Given the description of an element on the screen output the (x, y) to click on. 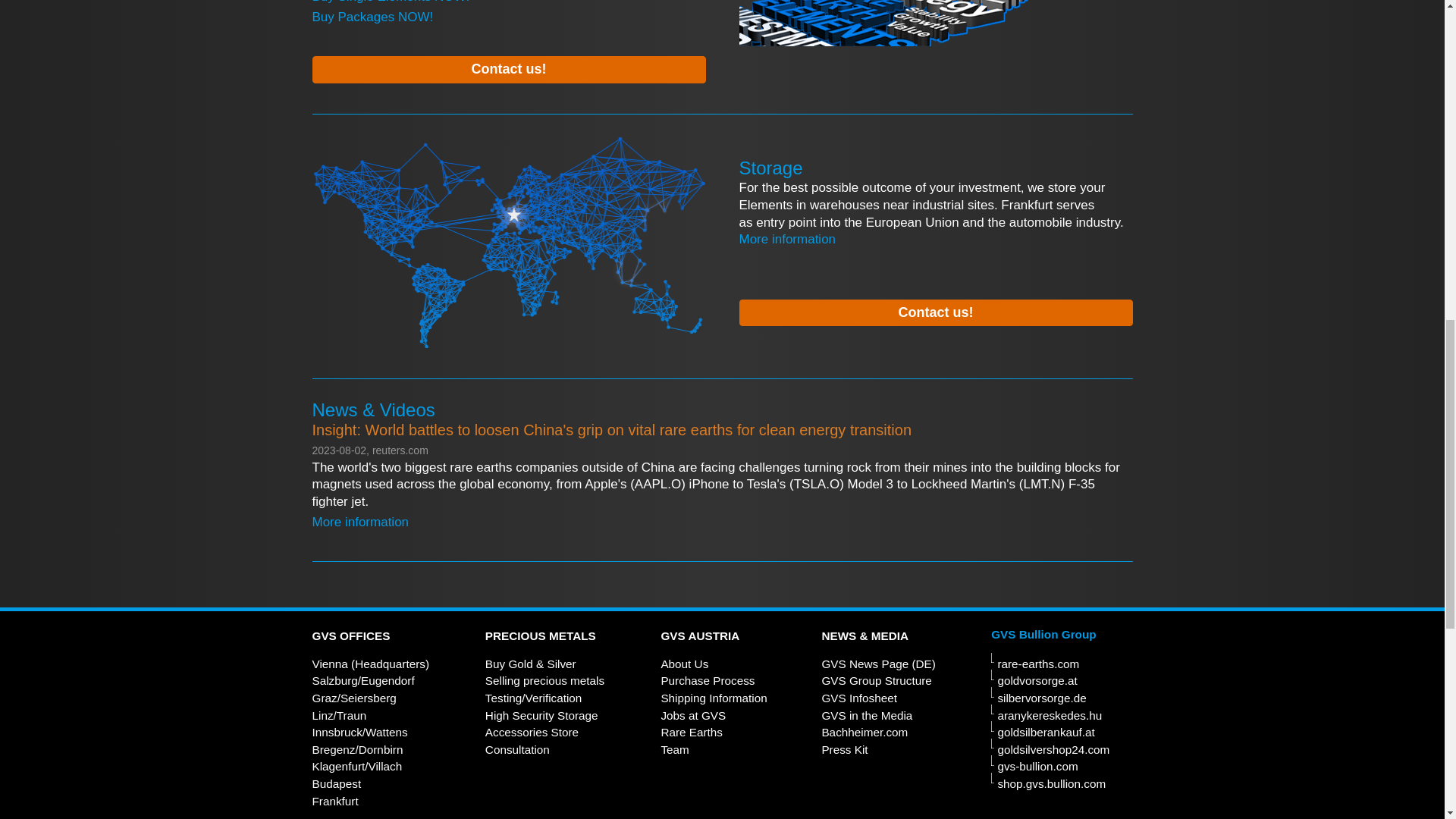
Frankfurt (335, 800)
Budapest (337, 783)
Accessories Store (531, 731)
Selling precious metals (544, 680)
Jobs at GVS (693, 715)
Contact us! (509, 69)
Consultation (517, 748)
Buy Single Elements NOW! (391, 2)
About Us (684, 663)
Buy Packages NOW! (373, 16)
Contact us! (935, 312)
More information (786, 238)
More information (361, 522)
Purchase Process (707, 680)
High Security Storage (541, 715)
